Given the description of an element on the screen output the (x, y) to click on. 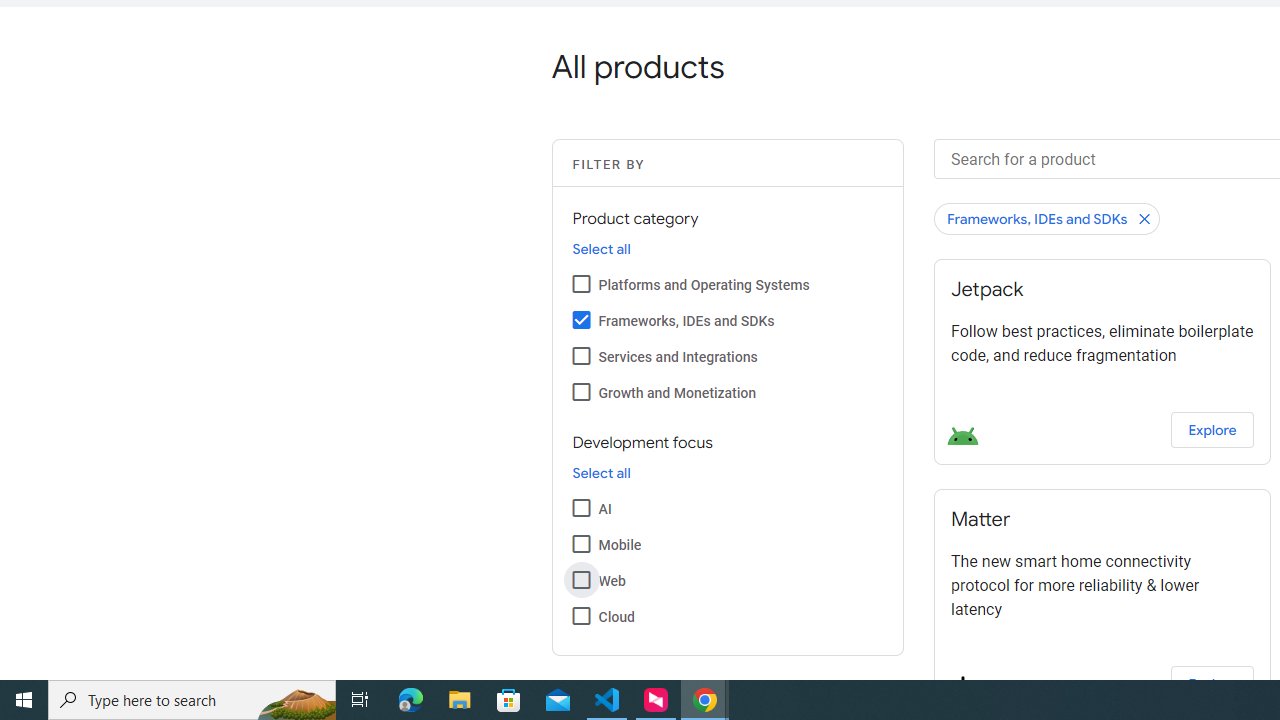
Cloud (581, 615)
Growth and Monetization (581, 391)
Select all (601, 473)
Mobile (581, 543)
AutomationID: devsitemarketingidesframeworksandsdks (581, 319)
Platforms and Operating Systems (581, 283)
AI (581, 507)
Web (581, 579)
Services and Integrations (581, 355)
Explore (1212, 684)
Remove Frameworks, IDEs and SDKs filter (1047, 218)
